Given the description of an element on the screen output the (x, y) to click on. 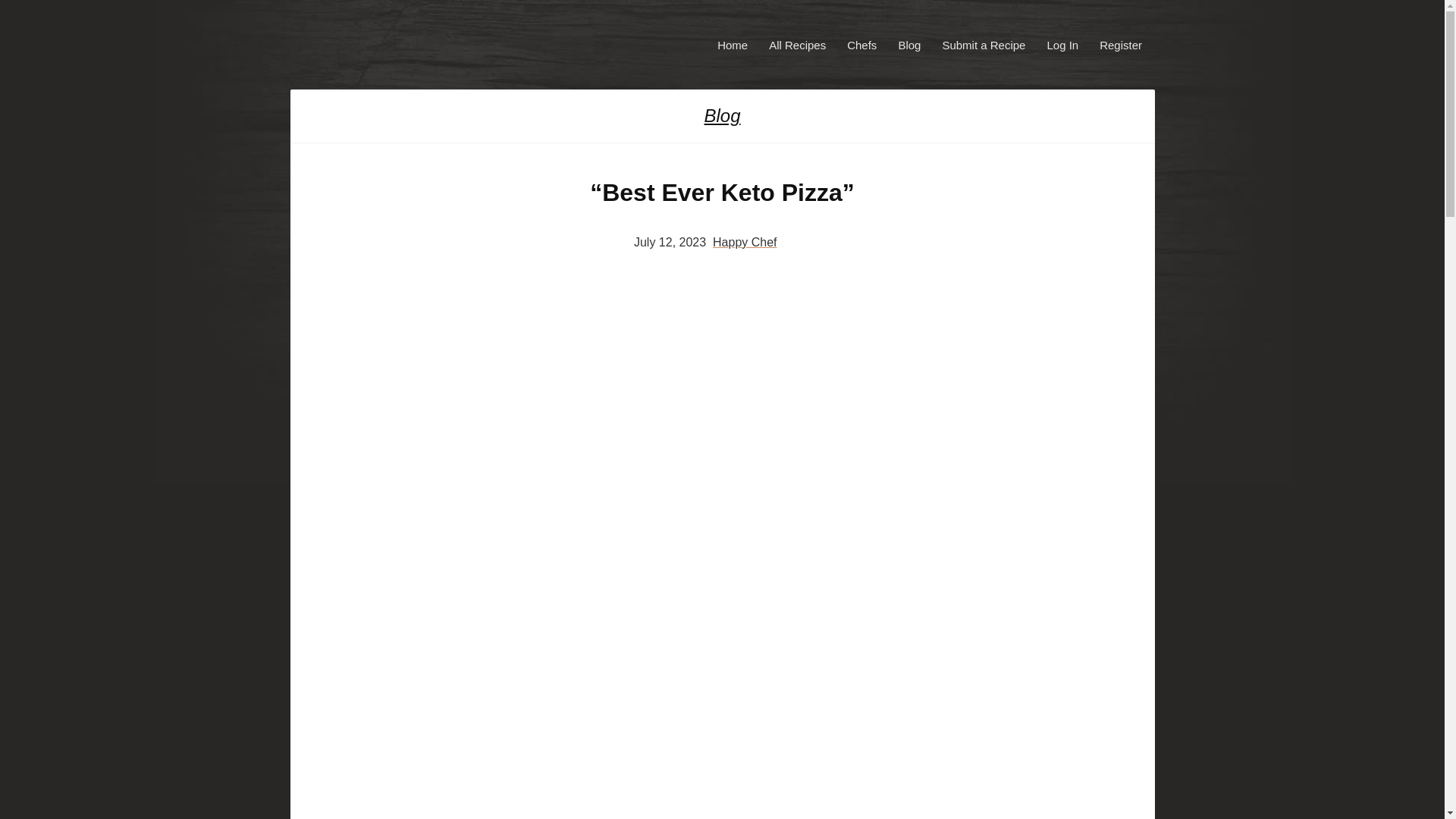
Register (1120, 44)
Submit a Recipe (983, 44)
Blog (721, 116)
Happy Chef (745, 241)
Log In (1061, 44)
All Recipes (797, 44)
Blog (909, 44)
Home (732, 44)
Chefs (861, 44)
